Given the description of an element on the screen output the (x, y) to click on. 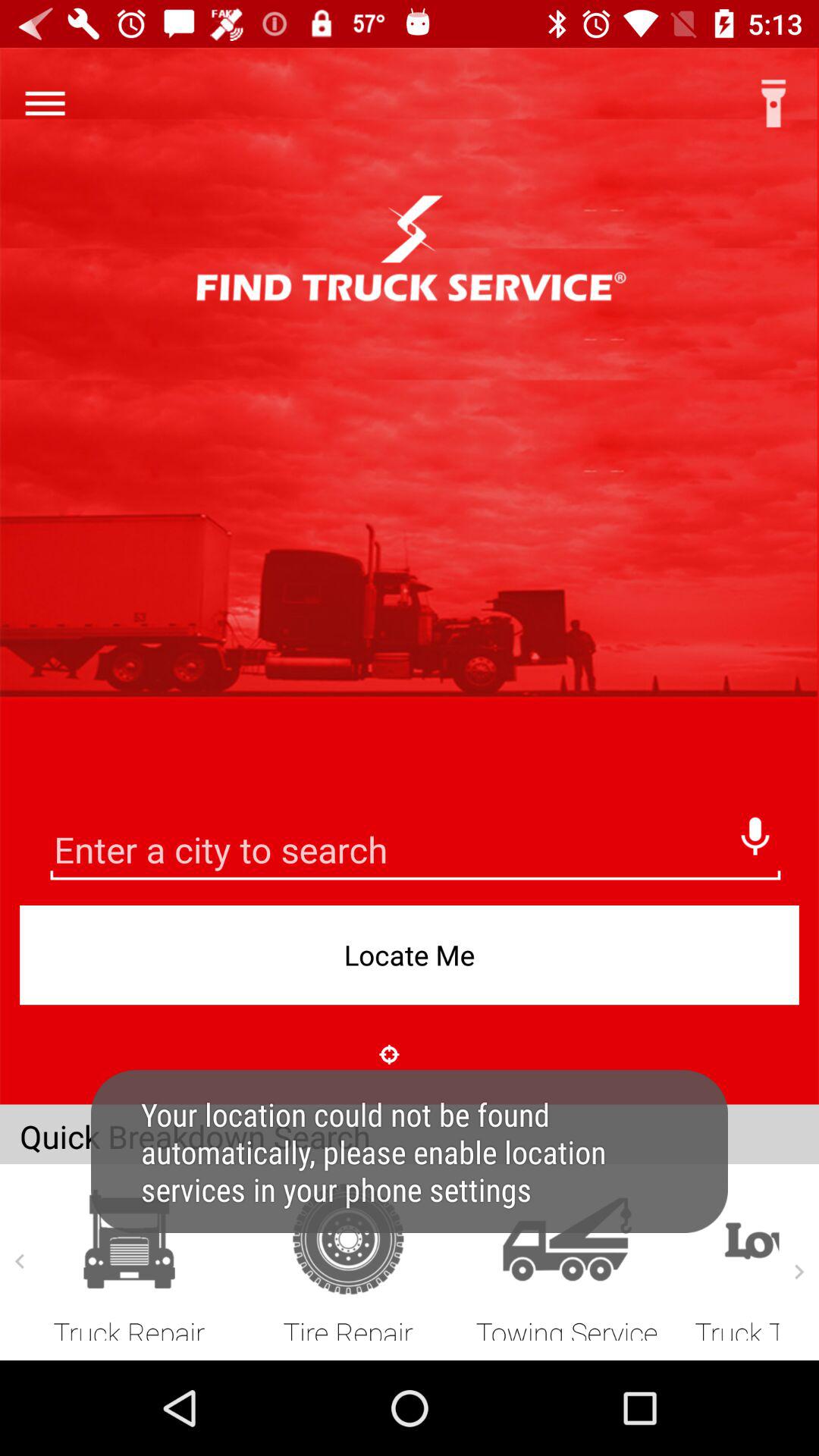
open menu (45, 103)
